Given the description of an element on the screen output the (x, y) to click on. 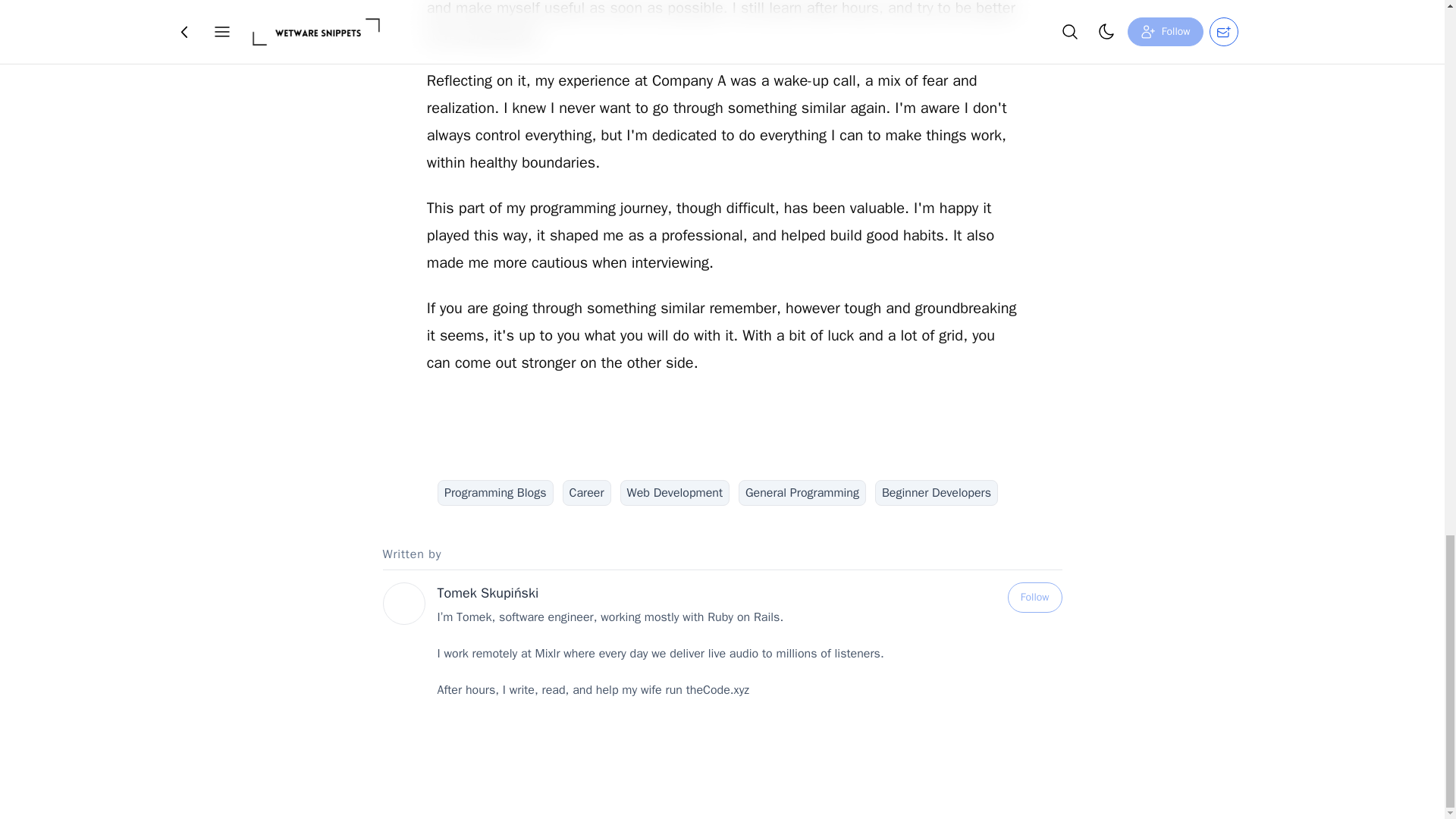
Career (586, 492)
Web Development (675, 492)
Follow (1034, 597)
Programming Blogs (495, 492)
Beginner Developers (936, 492)
General Programming (802, 492)
